Given the description of an element on the screen output the (x, y) to click on. 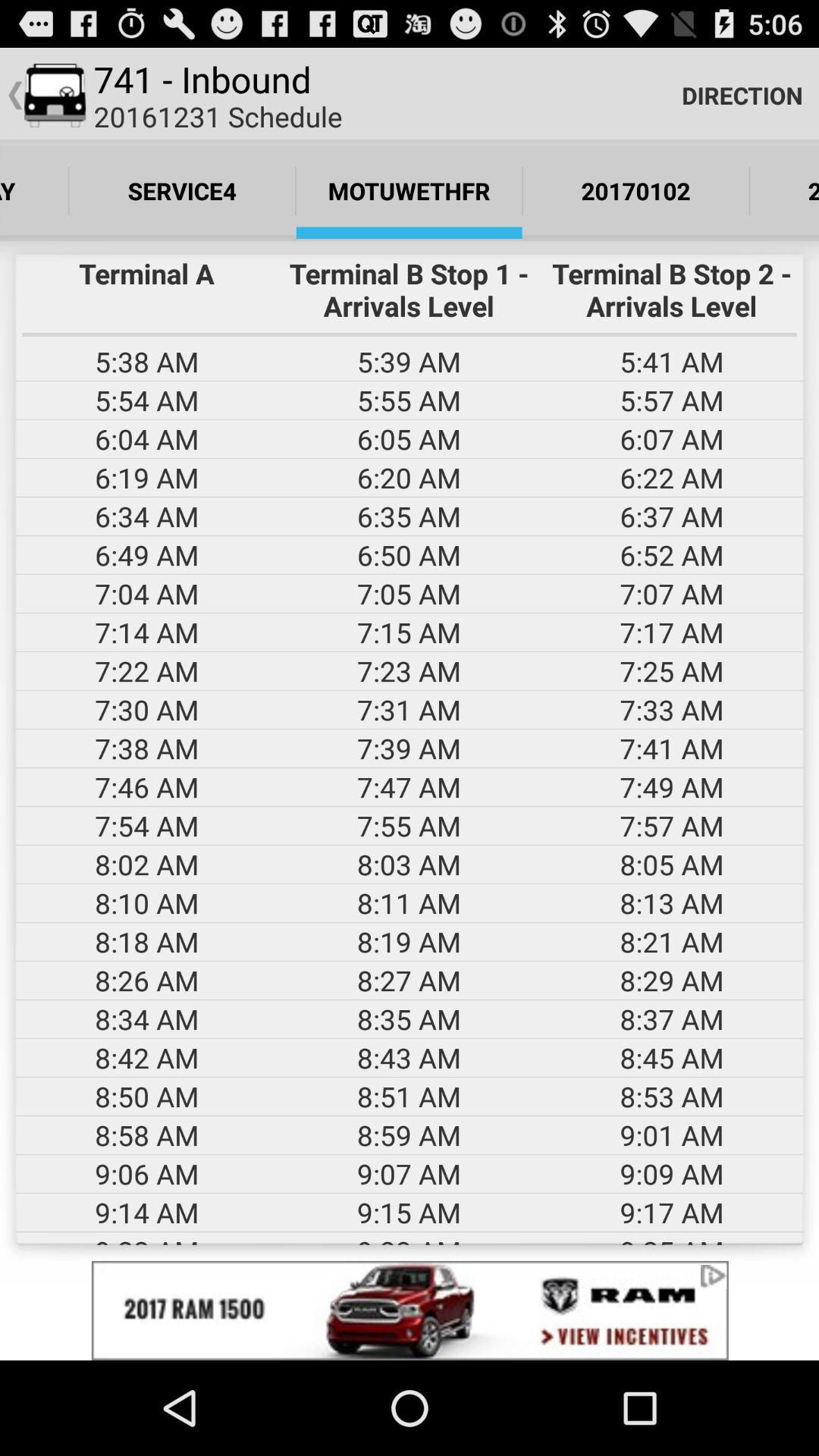
advertisement link (409, 1310)
